Given the description of an element on the screen output the (x, y) to click on. 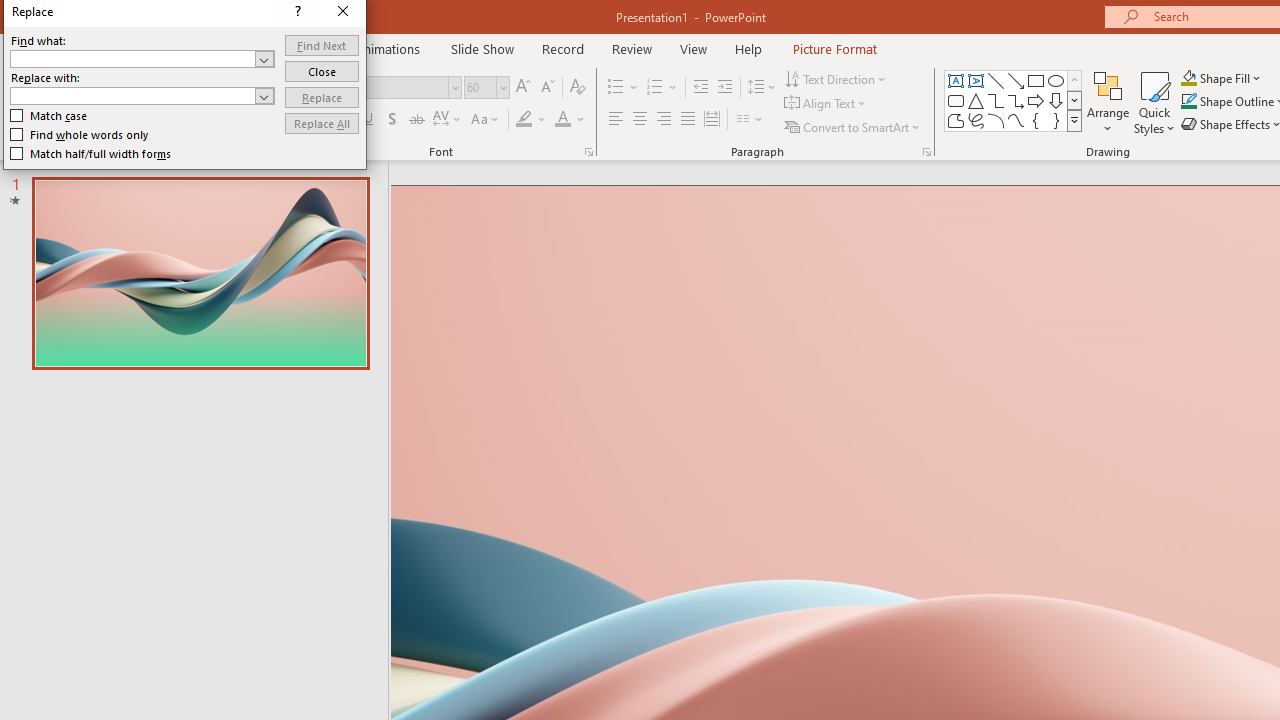
Find what (619, 382)
Replace (634, 317)
Picture Format (834, 48)
Context help (468, 137)
